Given the description of an element on the screen output the (x, y) to click on. 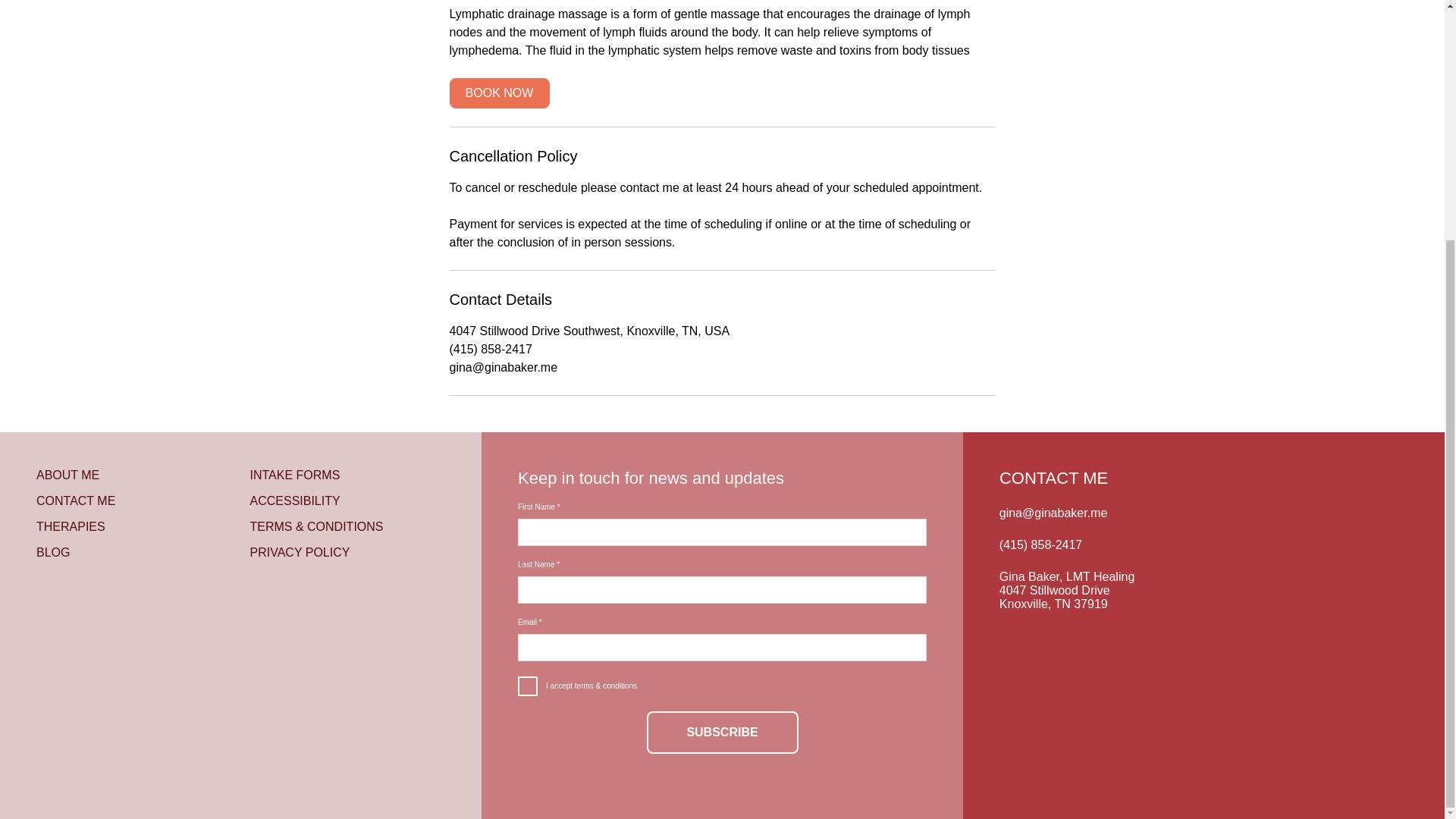
ABOUT ME (67, 474)
BLOG (52, 552)
SUBSCRIBE (721, 732)
INTAKE FORMS (295, 474)
BOOK NOW (498, 92)
PRIVACY POLICY (300, 552)
ACCESSIBILITY (295, 500)
THERAPIES (70, 526)
CONTACT ME (75, 500)
